Given the description of an element on the screen output the (x, y) to click on. 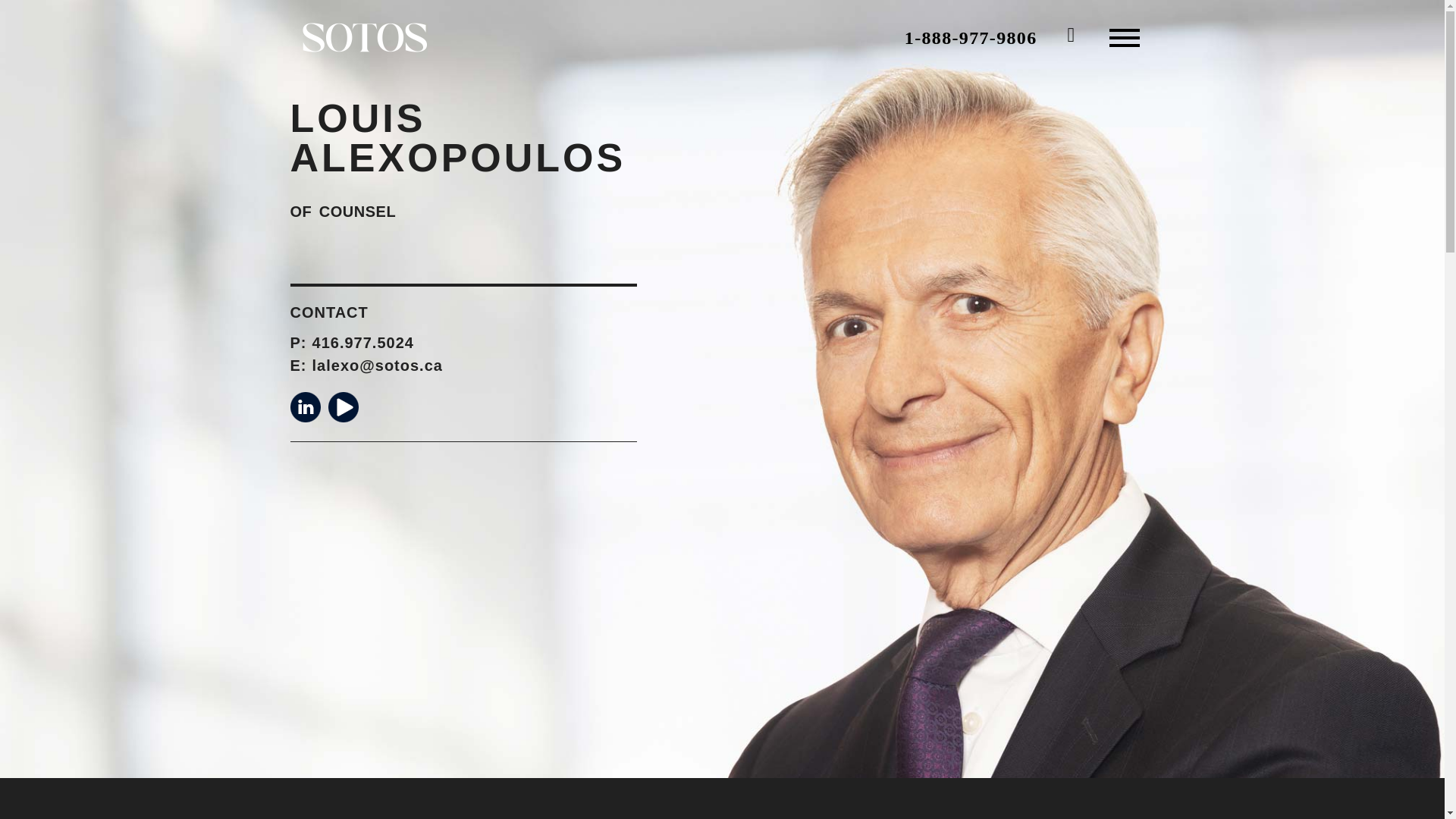
1-888-977-9806 (970, 37)
